Given the description of an element on the screen output the (x, y) to click on. 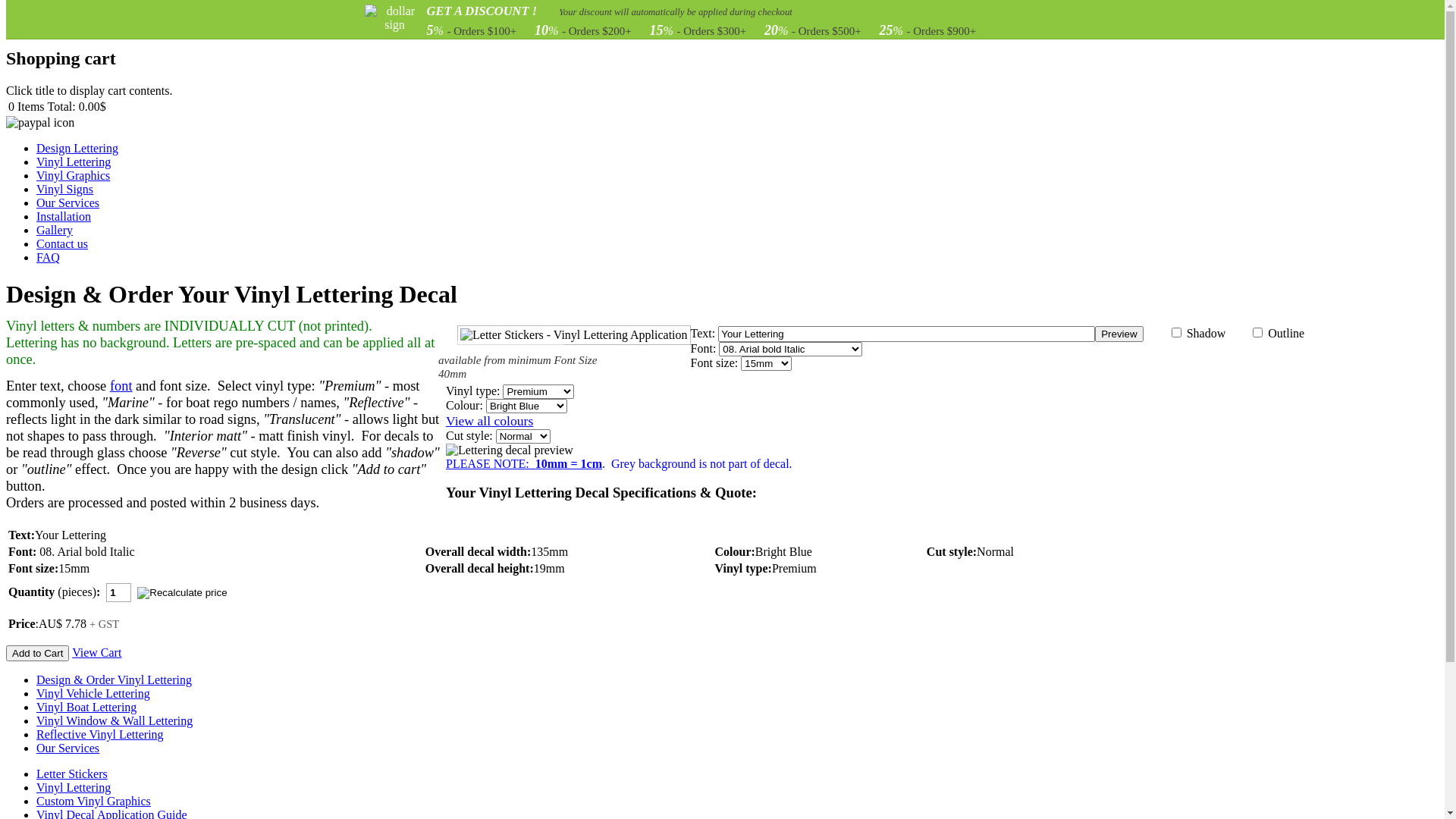
Installation Element type: text (63, 216)
Design & Order Vinyl Lettering Element type: text (113, 679)
Design Lettering Element type: text (77, 147)
Vinyl Graphics Element type: text (72, 175)
Vinyl Signs Element type: text (64, 188)
Vinyl Vehicle Lettering Element type: text (93, 693)
Recalculate price Element type: hover (181, 595)
font Element type: text (120, 385)
Add your lettering decal to the shopping cart Element type: hover (37, 653)
Custom Vinyl Graphics Element type: text (93, 800)
View all colours Element type: text (489, 420)
Enter your text here Element type: hover (906, 334)
Vinyl Lettering Element type: text (73, 787)
View Cart Element type: text (96, 652)
Vinyl Window & Wall Lettering Element type: text (114, 720)
Vinyl Lettering Element type: text (73, 161)
Letter Stickers Element type: text (71, 773)
Our Services Element type: text (67, 747)
Add to Cart Element type: text (37, 653)
Vinyl Boat Lettering Element type: text (86, 706)
Home Element type: hover (26, 25)
FAQ Element type: text (47, 257)
Our Services Element type: text (67, 202)
Skip to Main Content Area Element type: text (71, 12)
Contact us Element type: text (61, 243)
Reflective Vinyl Lettering Element type: text (99, 734)
Gallery Element type: text (54, 229)
